Given the description of an element on the screen output the (x, y) to click on. 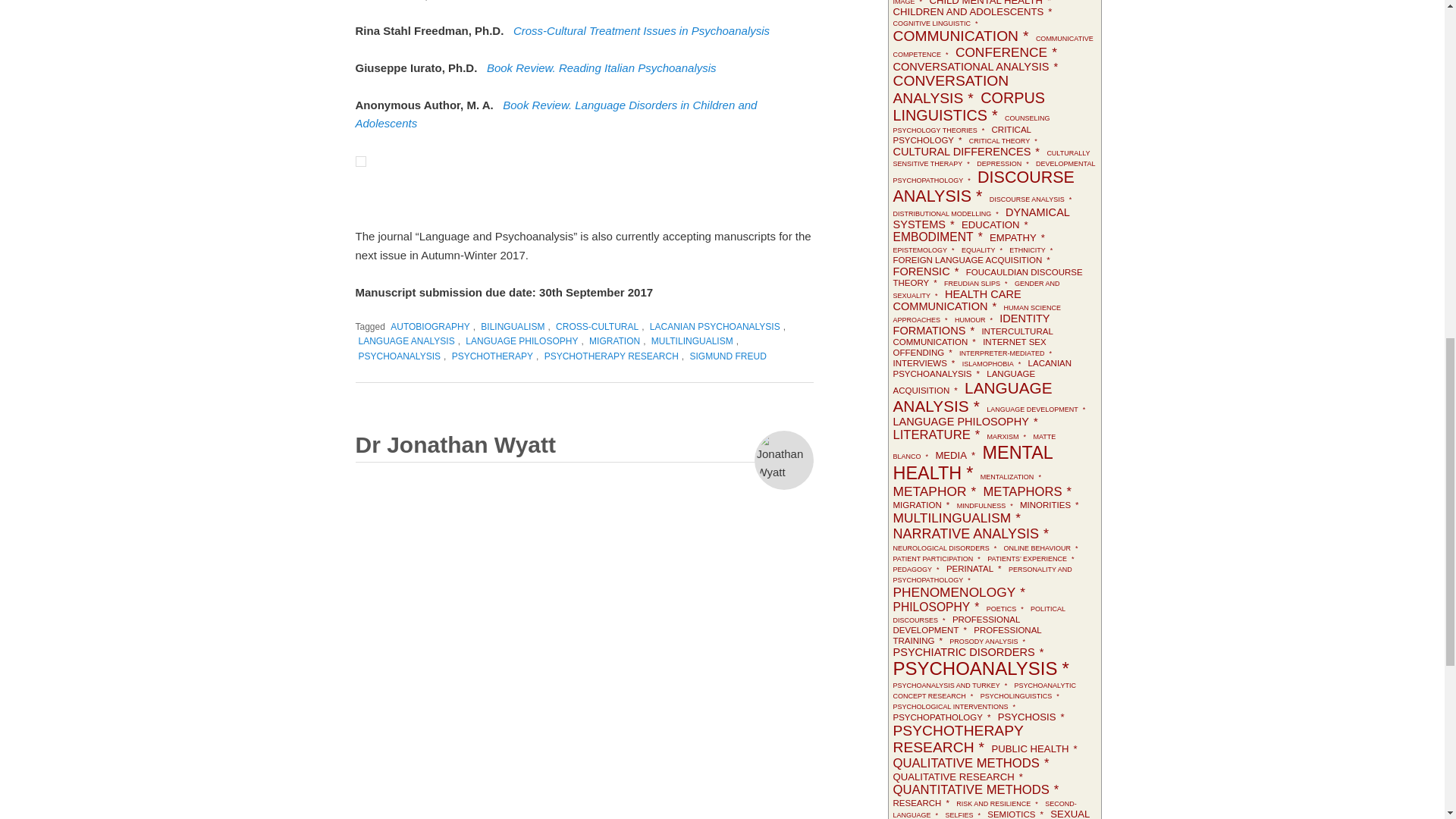
PSYCHOANALYSIS (398, 356)
MIGRATION (614, 341)
LANGUAGE PHILOSOPHY (521, 341)
AUTOBIOGRAPHY (429, 327)
Book Review. Reading Italian Psychoanalysis (601, 67)
MULTILINGUALISM (691, 341)
LACANIAN PSYCHOANALYSIS (714, 327)
LANGUAGE ANALYSIS (406, 341)
Cross-Cultural Treatment Issues in Psychoanalysis (641, 30)
BILINGUALISM (512, 327)
CROSS-CULTURAL (597, 327)
